Given the description of an element on the screen output the (x, y) to click on. 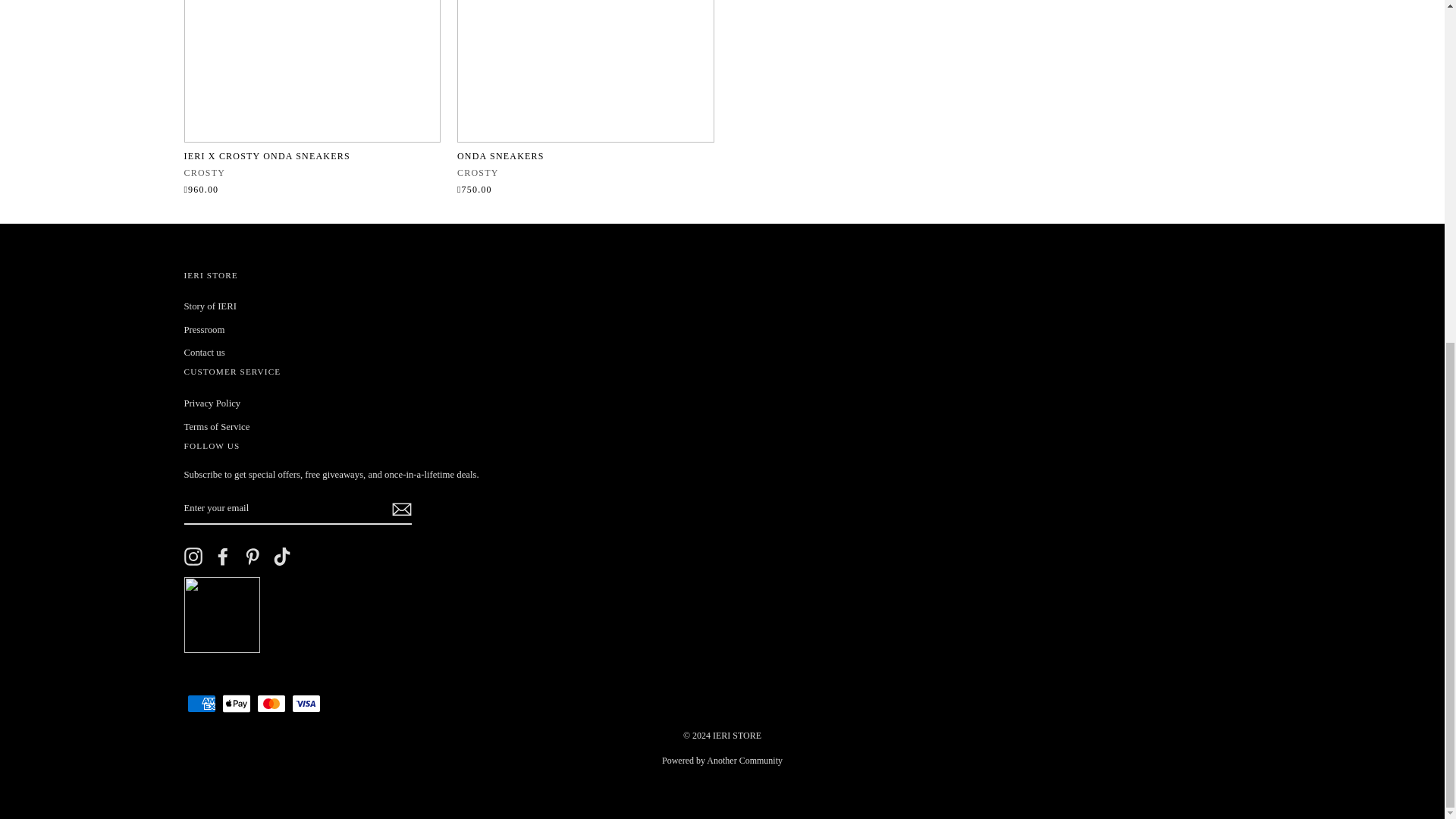
Mastercard (270, 703)
IERI STORE on TikTok (282, 556)
Visa (305, 703)
Apple Pay (235, 703)
IERI STORE on Instagram (192, 556)
IERI STORE on Pinterest (251, 556)
IERI STORE on Facebook (222, 556)
American Express (200, 703)
